Given the description of an element on the screen output the (x, y) to click on. 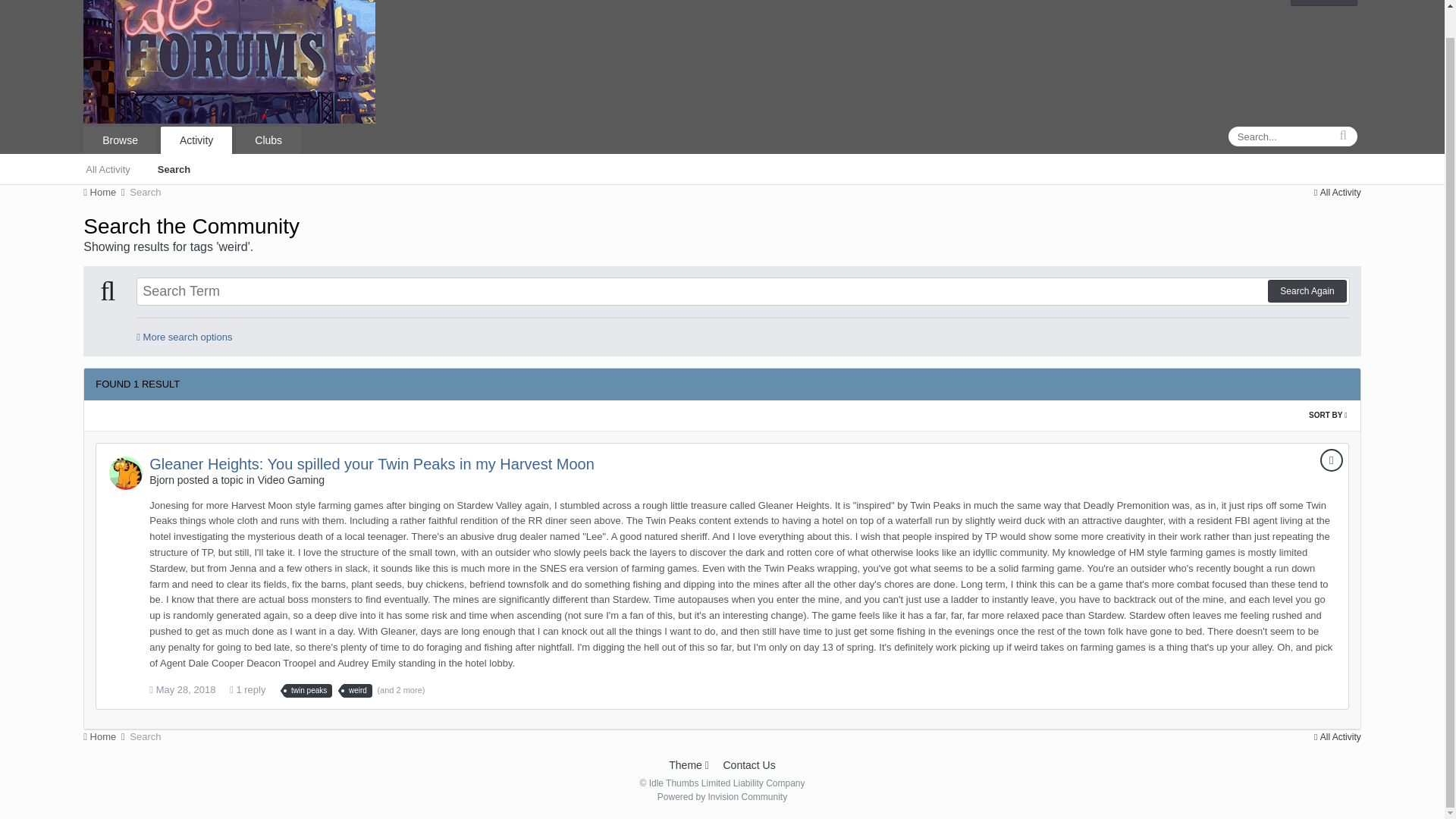
Invision Community (722, 796)
All Activity (1337, 192)
Find other content tagged with 'twin peaks' (308, 690)
Browse (119, 139)
Clubs (268, 139)
Go to Bjorn's profile (125, 472)
Activity (195, 139)
Topic (1331, 459)
Home (104, 192)
Search (144, 192)
